Given the description of an element on the screen output the (x, y) to click on. 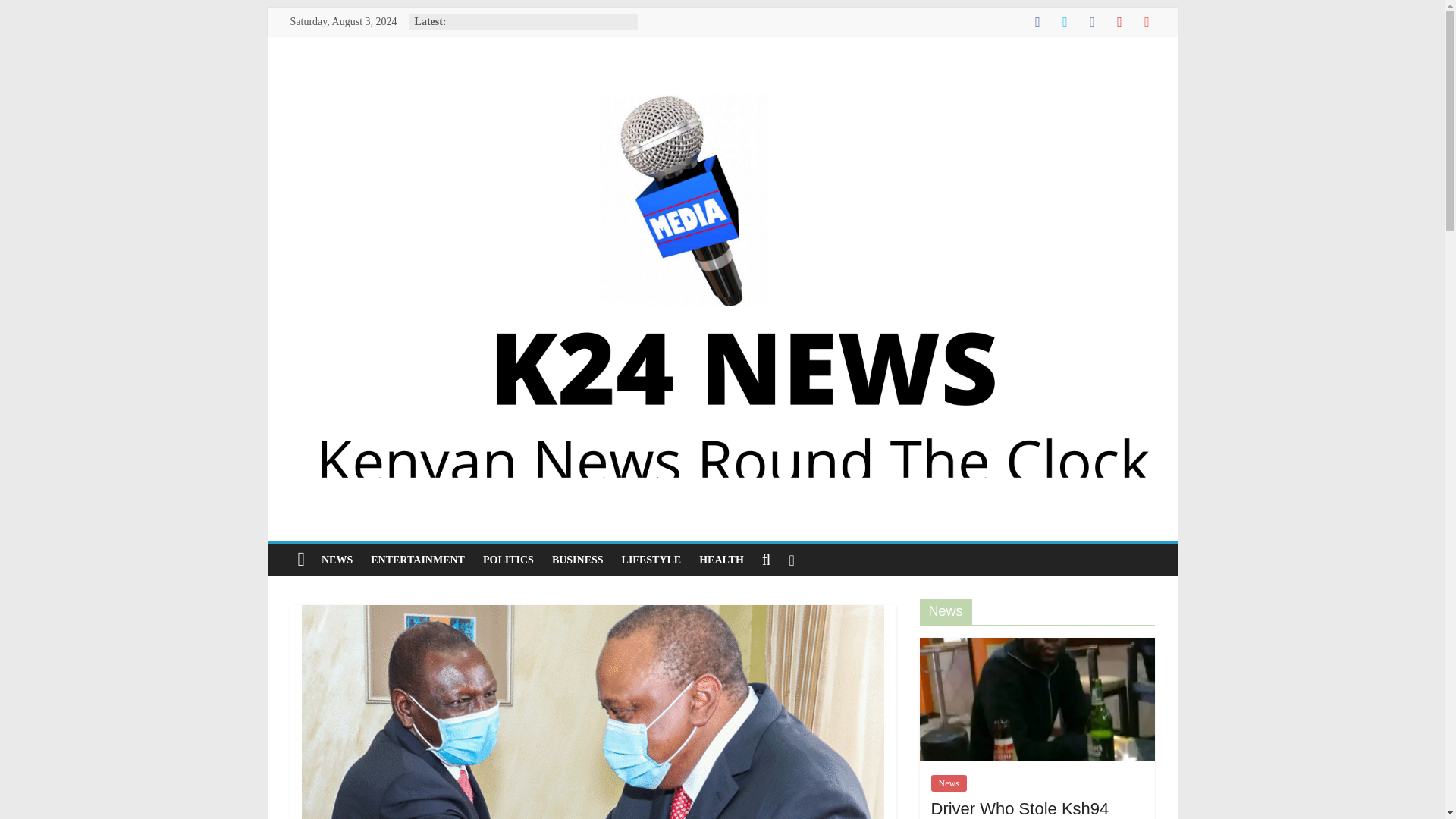
BUSINESS (577, 560)
ENTERTAINMENT (417, 560)
POLITICS (508, 560)
HEALTH (721, 560)
LIFESTYLE (651, 560)
NEWS (337, 560)
